Given the description of an element on the screen output the (x, y) to click on. 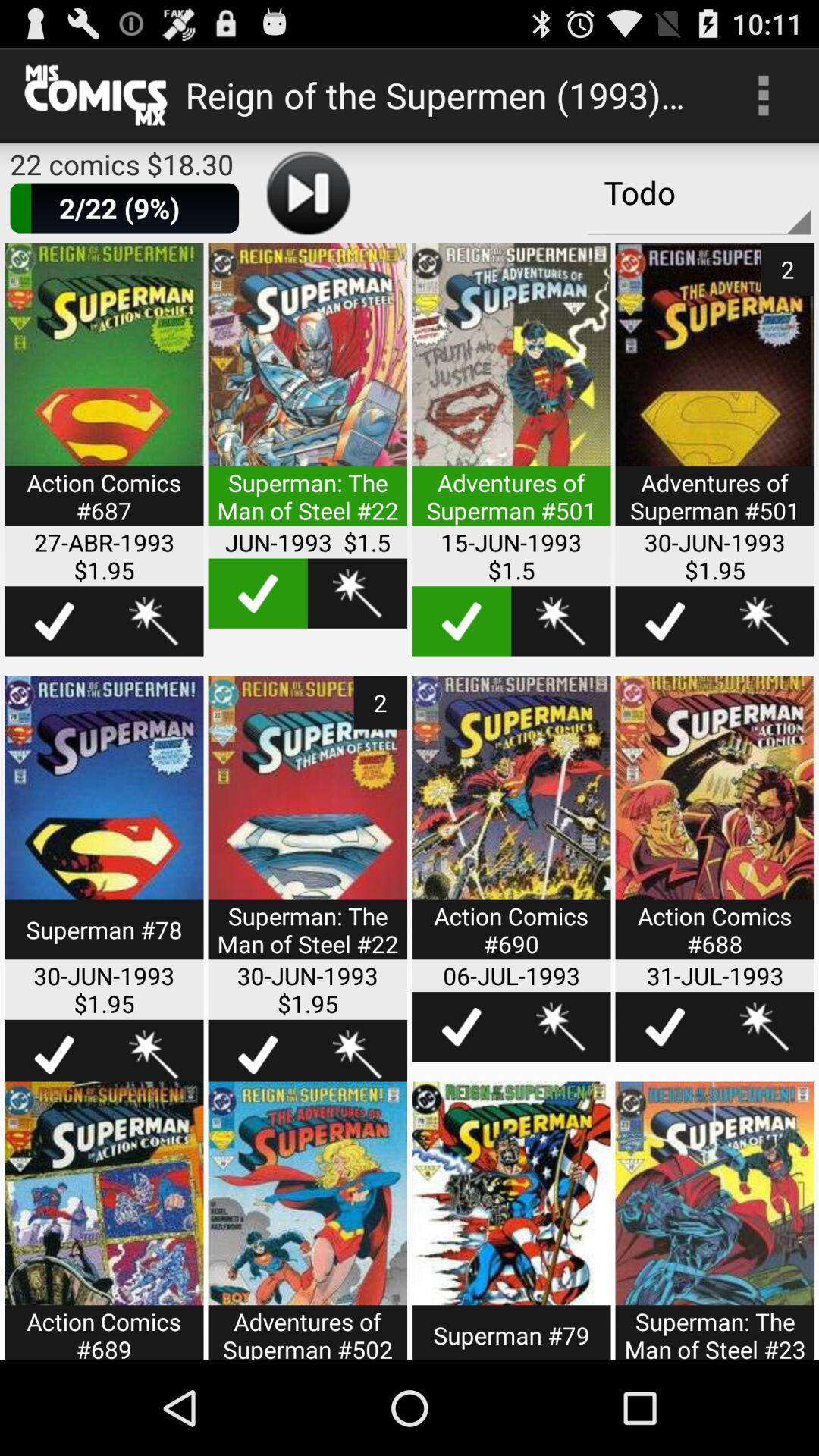
options (764, 621)
